Given the description of an element on the screen output the (x, y) to click on. 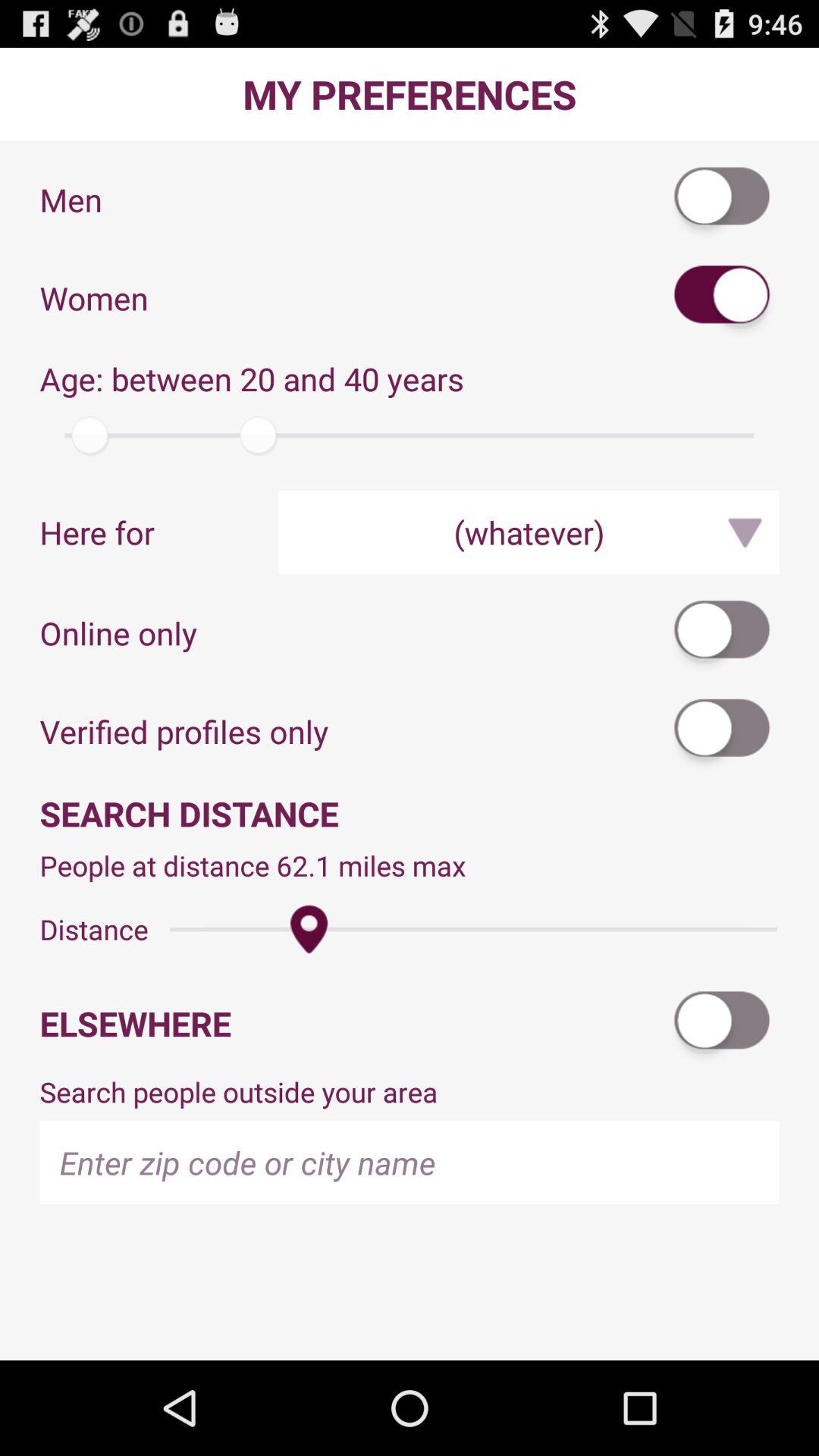
toggle switch option (722, 731)
